Given the description of an element on the screen output the (x, y) to click on. 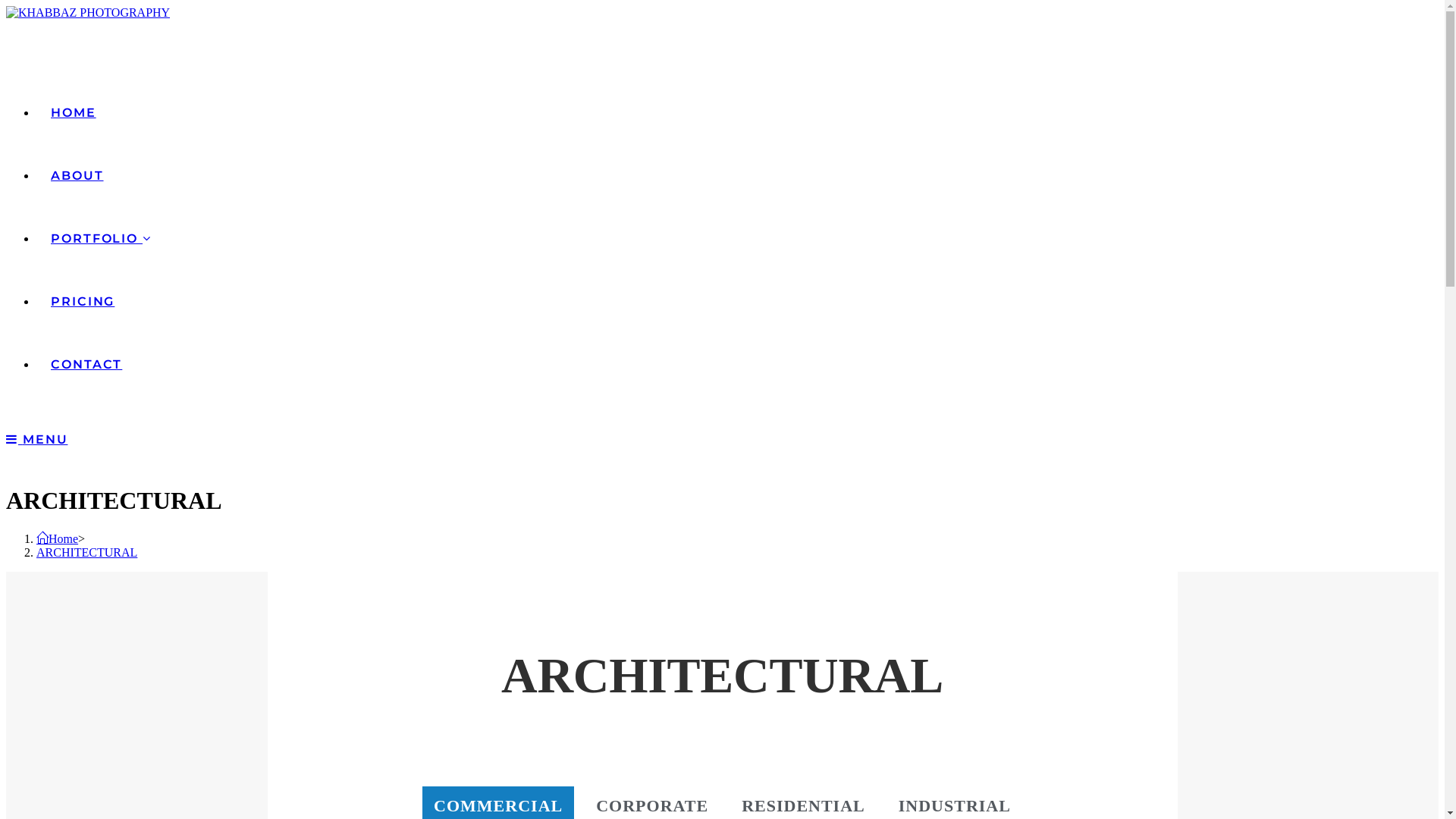
HOME Element type: text (73, 112)
CONTACT Element type: text (86, 364)
Home Element type: text (57, 538)
PRICING Element type: text (82, 301)
ARCHITECTURAL Element type: text (86, 552)
MENU Element type: text (36, 439)
PORTFOLIO Element type: text (101, 238)
ABOUT Element type: text (77, 175)
